Given the description of an element on the screen output the (x, y) to click on. 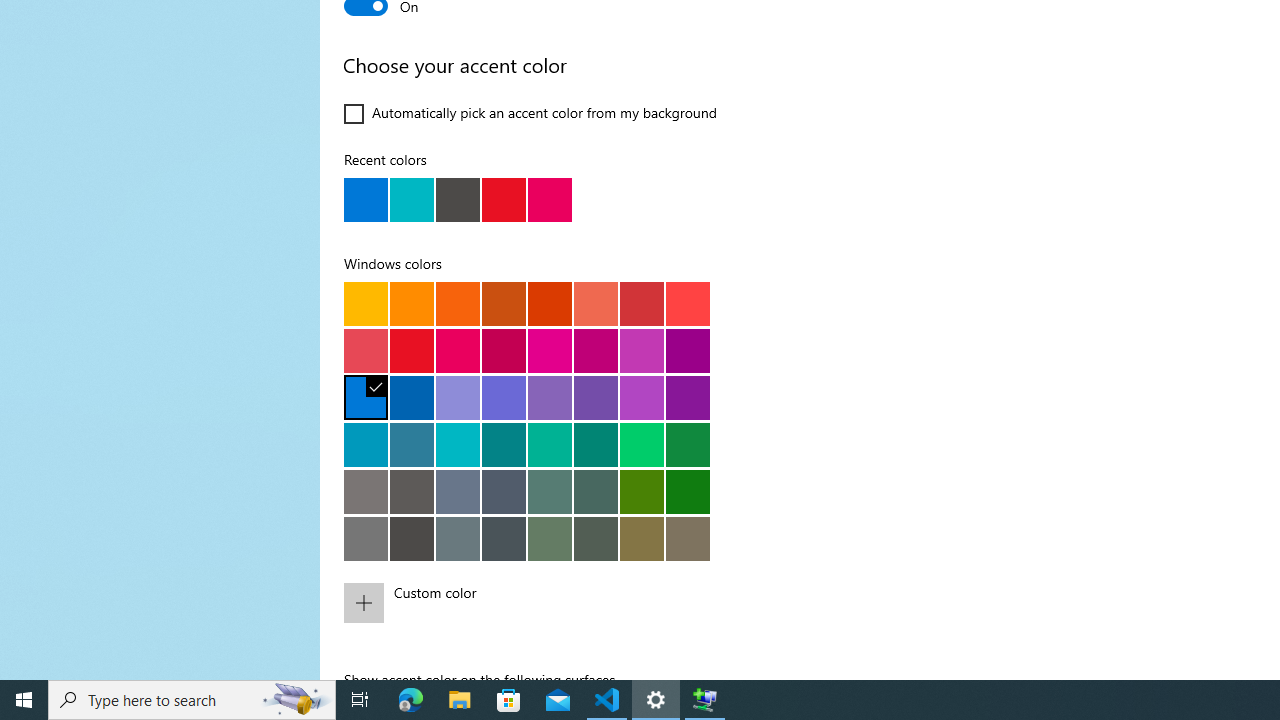
Custom color (563, 602)
Storm (411, 538)
Sport green (687, 444)
Liddy green (549, 538)
Plum light (549, 350)
Rose bright (458, 350)
Yellow gold (365, 303)
Orange dark (504, 303)
Default blue (365, 397)
Pale moss (549, 491)
Seafoam teal (504, 444)
Overcast (365, 538)
Extensible Wizards Host Process - 1 running window (704, 699)
